Given the description of an element on the screen output the (x, y) to click on. 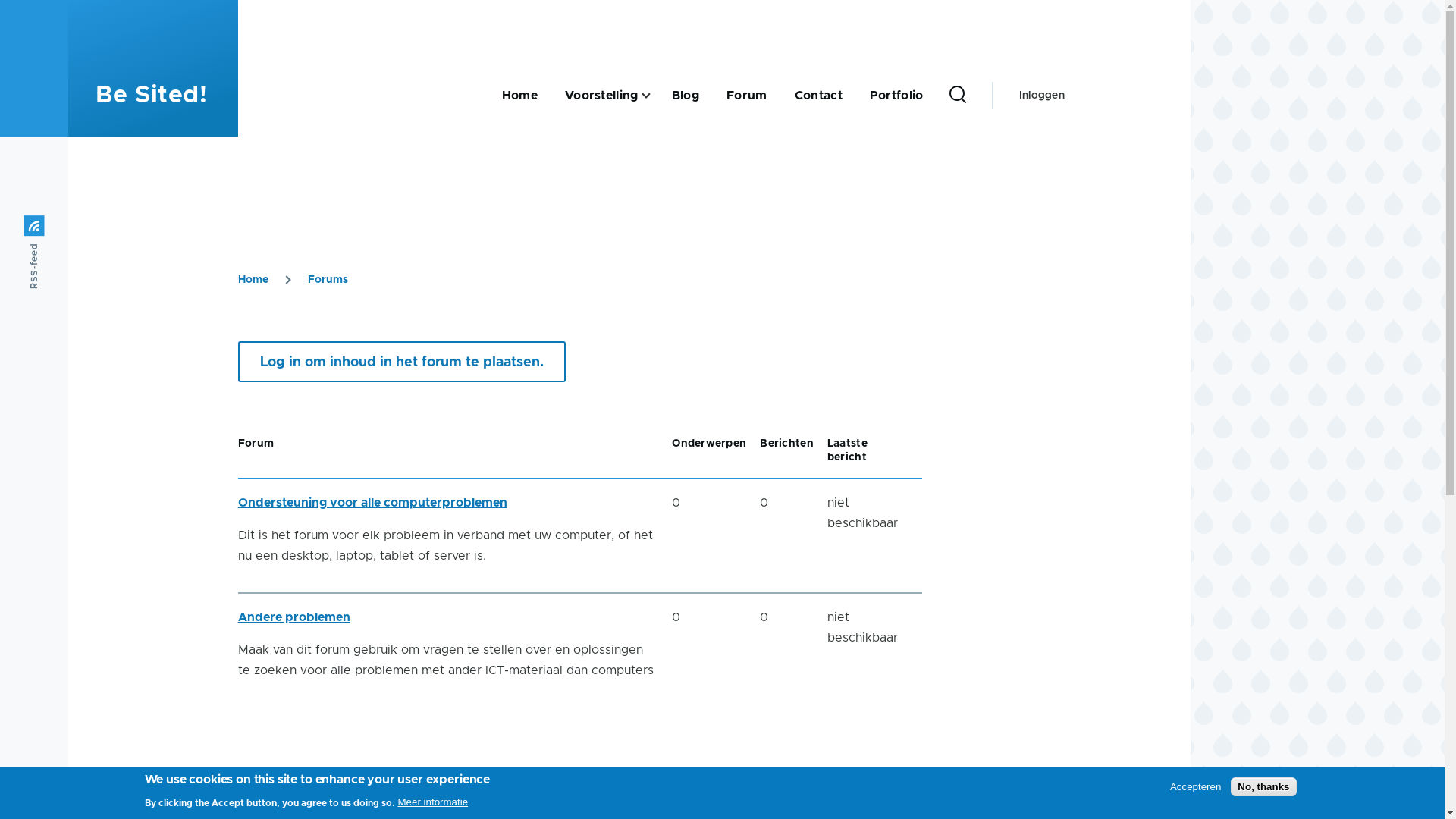
Meer informatie Element type: text (432, 801)
Forum Element type: text (746, 94)
Ondersteuning voor alle computerproblemen Element type: text (372, 502)
Blog Element type: text (685, 94)
Home Element type: text (519, 94)
Andere problemen Element type: text (294, 617)
RSS-feed Element type: text (60, 225)
Be Sited! Element type: text (151, 95)
Accepteren Element type: text (1195, 786)
Inloggen Element type: text (1041, 95)
No, thanks Element type: text (1262, 786)
Log in om inhoud in het forum te plaatsen. Element type: text (401, 361)
Contact Element type: text (818, 94)
Home Element type: text (253, 279)
Overslaan en naar de inhoud gaan Element type: text (595, 6)
Portfolio Element type: text (896, 94)
Search Element type: text (953, 190)
Forums Element type: text (327, 279)
Voorstelling Element type: text (601, 94)
